Given the description of an element on the screen output the (x, y) to click on. 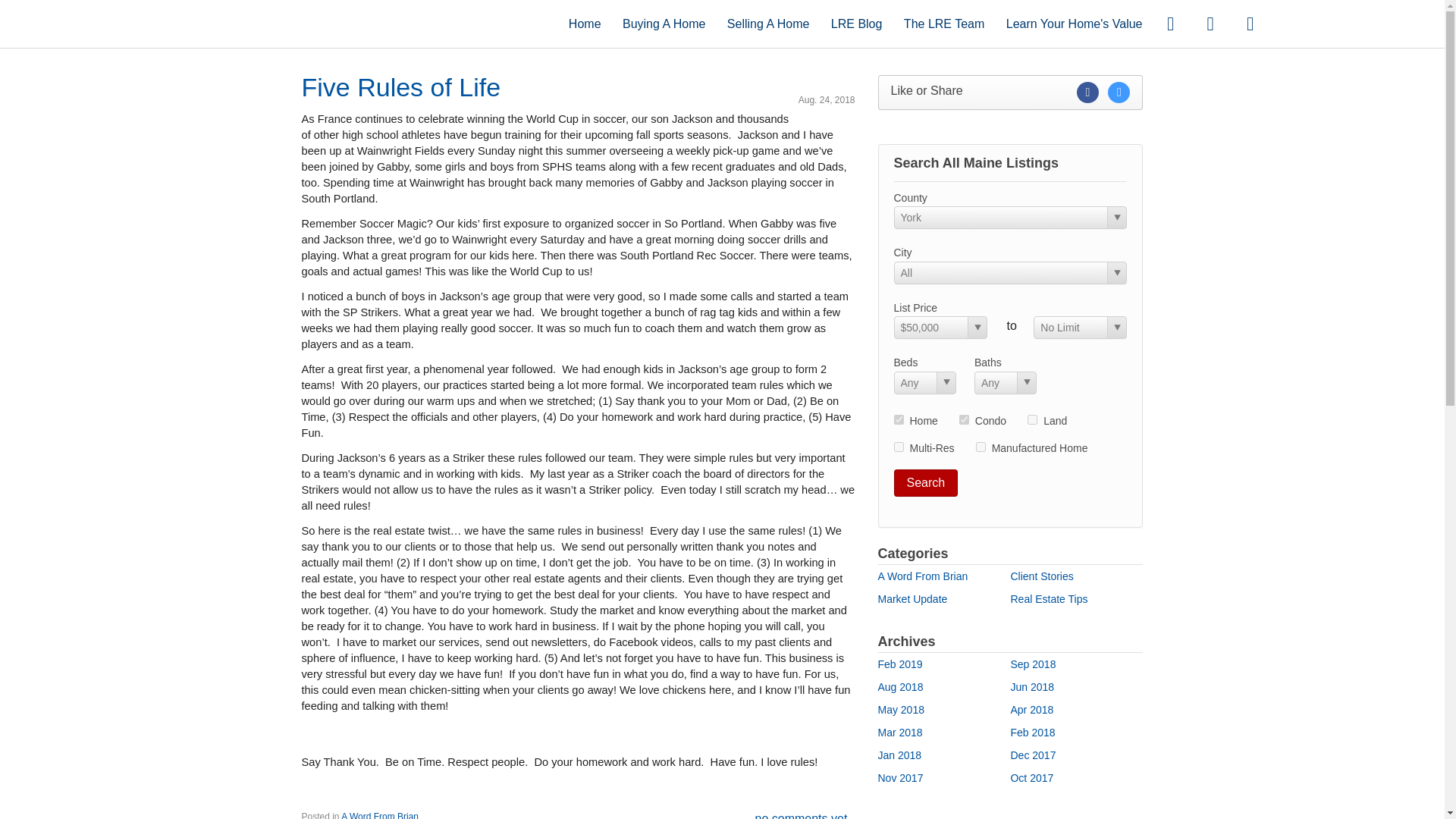
The LRE Team (944, 23)
Jun 2018 (1032, 686)
Buying A Home (663, 23)
Client Stories (1041, 576)
Nov 2017 (900, 777)
May 2018 (900, 709)
A Word From Brian (922, 576)
Market Update (912, 598)
Five Rules of Life (400, 86)
Sep 2018 (1032, 664)
res (897, 419)
Selling A Home (767, 23)
Like or Share (1009, 92)
Dec 2017 (1032, 755)
Feb 2019 (900, 664)
